Given the description of an element on the screen output the (x, y) to click on. 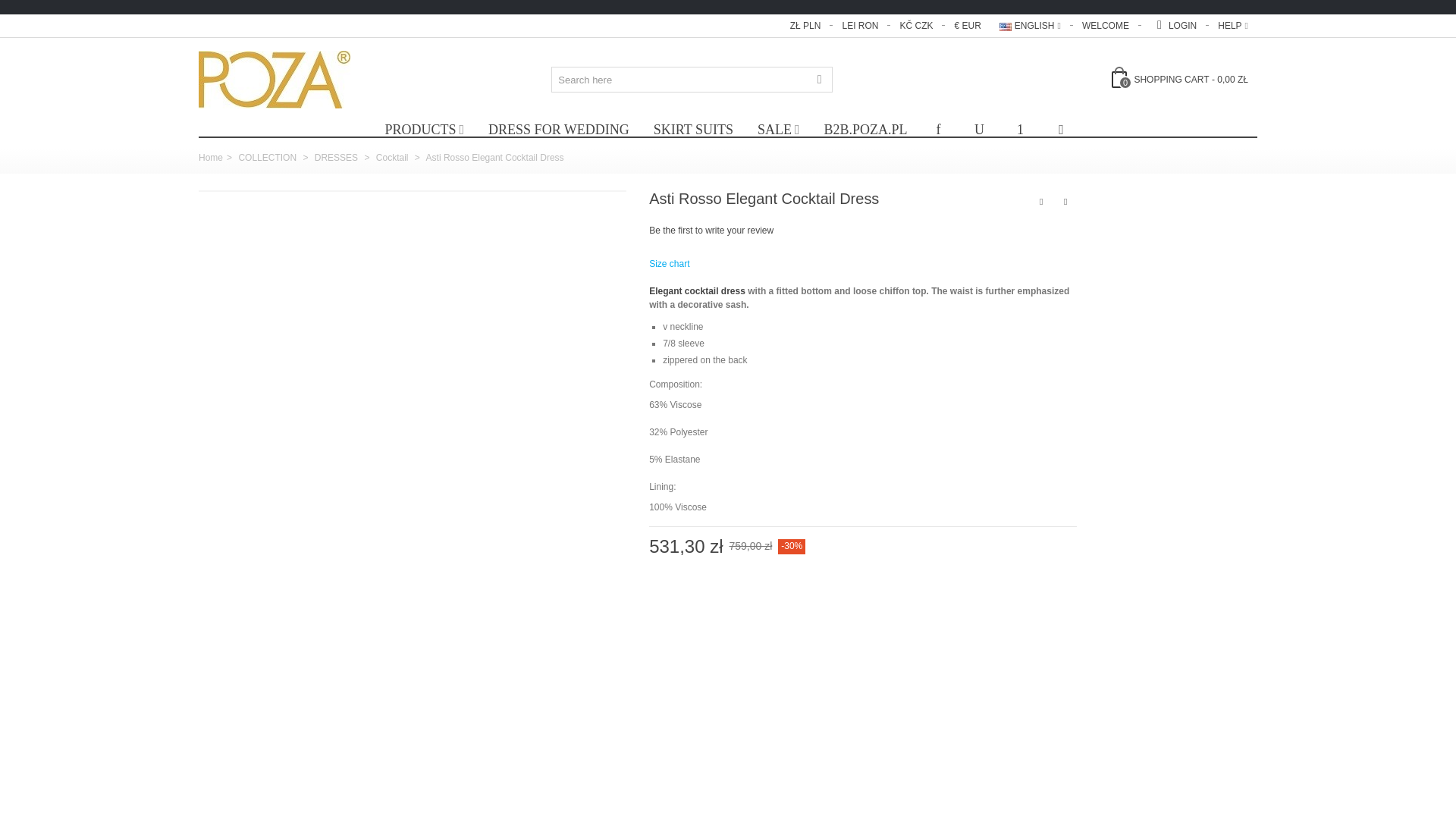
POZA (274, 79)
LEI RON (860, 25)
LOGIN (1174, 25)
Lei (860, 25)
View my shopping cart (1179, 79)
Korona Czeska (916, 25)
Log in to your customer account (1174, 25)
Euro (967, 25)
Search (819, 79)
PRODUCTS (424, 129)
COLLECTION (424, 129)
